Given the description of an element on the screen output the (x, y) to click on. 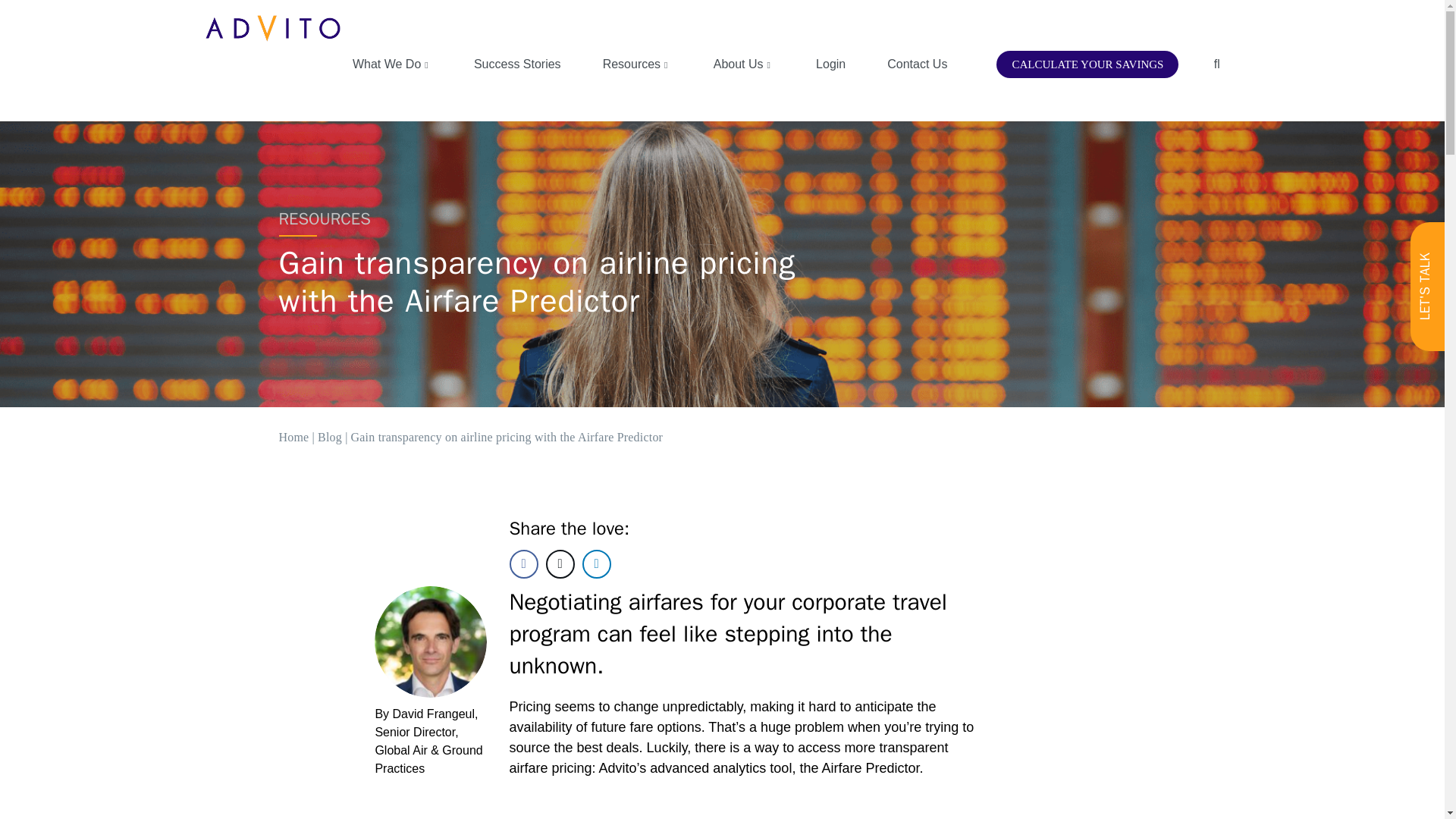
Resources (637, 63)
Success Stories (517, 63)
Login (830, 63)
What We Do (391, 63)
About Us (743, 63)
Airfare Predictor dashboard computer2 (746, 812)
Contact Us (917, 63)
CALCULATE YOUR SAVINGS (1087, 63)
